Given the description of an element on the screen output the (x, y) to click on. 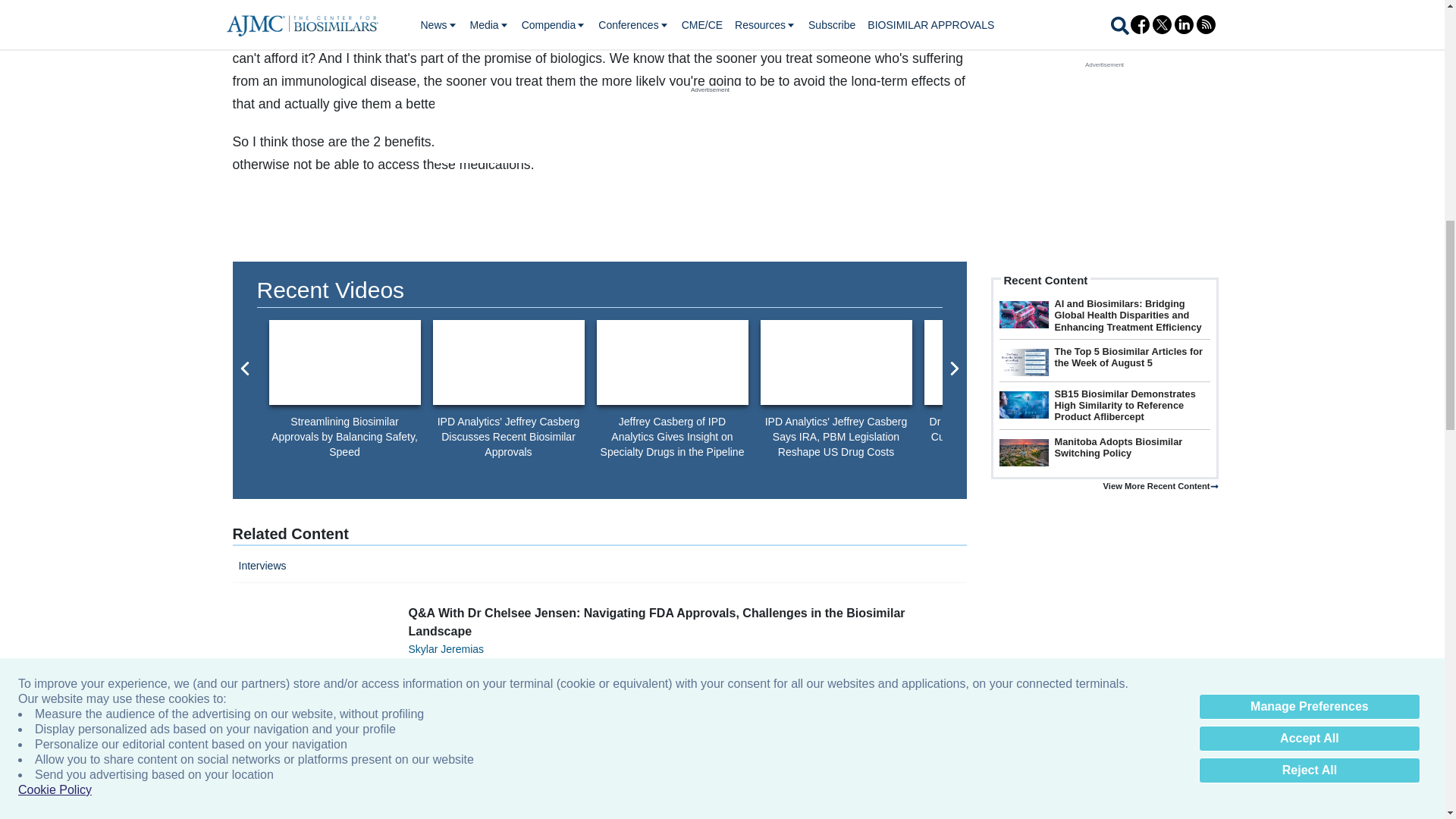
Jeffrey Casberg, MS, RPh (507, 362)
Jeffrey Casberg, RPh, MS.  (671, 362)
Lakesha Farmer from Cencora (1326, 362)
Ivo Abraham, PhD, RN.  (343, 362)
Lakesha Farmer, PharmD (999, 362)
Jeffrey Casbery, IPD Analytics (835, 362)
